Given the description of an element on the screen output the (x, y) to click on. 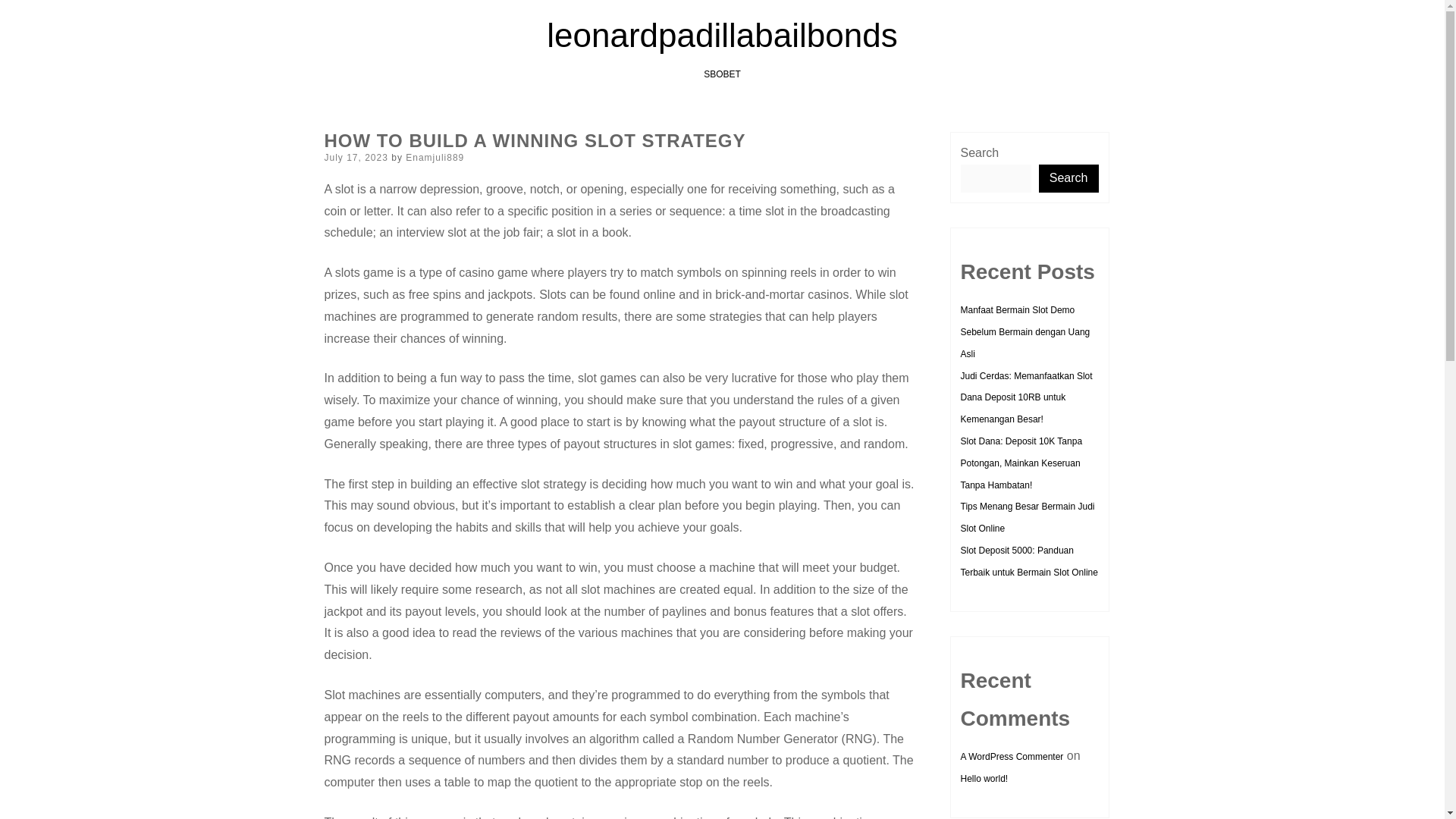
SBOBET (722, 73)
Tips Menang Besar Bermain Judi Slot Online (1026, 517)
Manfaat Bermain Slot Demo Sebelum Bermain dengan Uang Asli (1024, 331)
leonardpadillabailbonds (721, 35)
July 17, 2023 (356, 157)
Search (1069, 178)
Hello world! (983, 778)
